Given the description of an element on the screen output the (x, y) to click on. 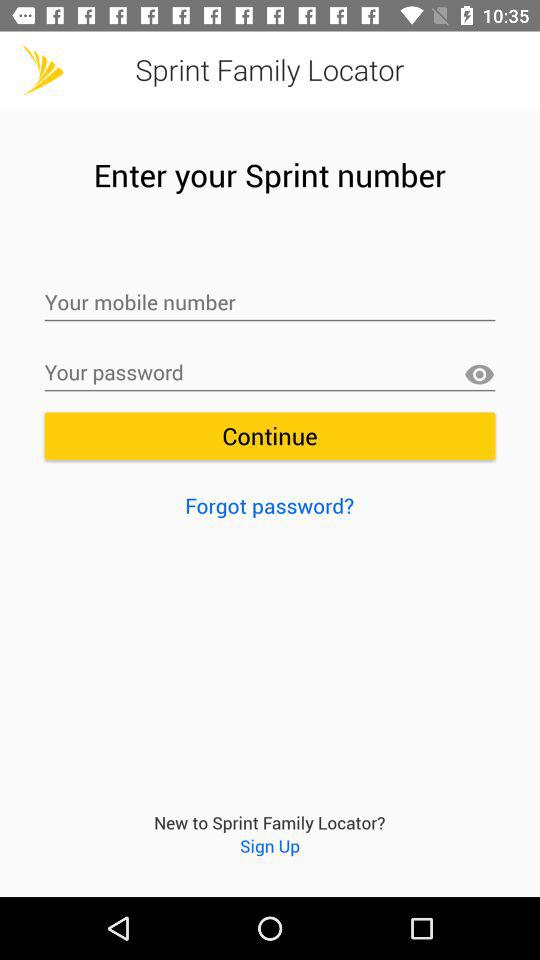
flip until the sign up item (270, 845)
